Given the description of an element on the screen output the (x, y) to click on. 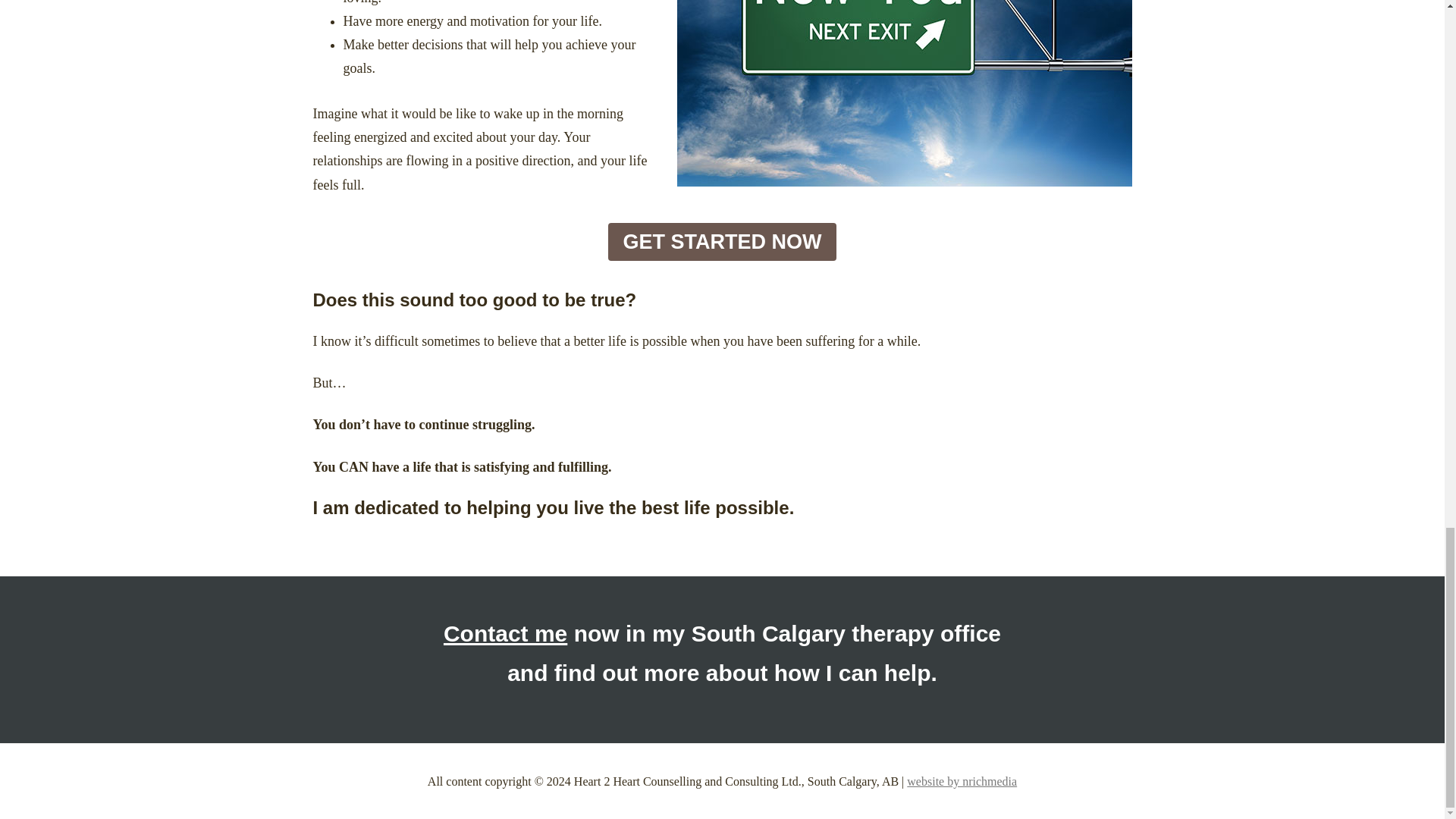
website by nrichmedia (961, 780)
nrichmedia (961, 780)
Contact me (505, 633)
GET STARTED NOW (722, 241)
